Given the description of an element on the screen output the (x, y) to click on. 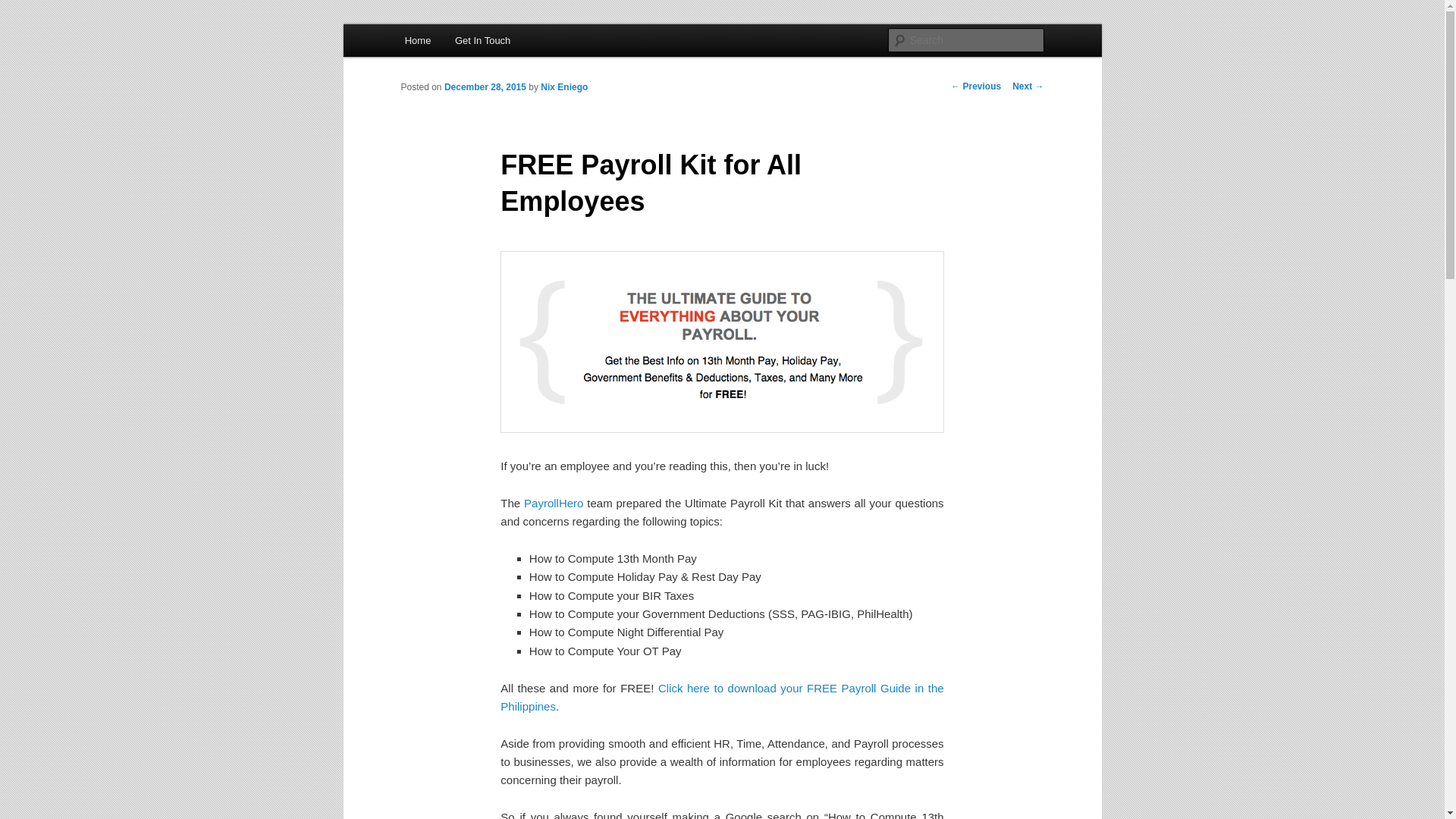
PayrollHero (553, 502)
Home (417, 40)
December 28, 2015 (484, 86)
Search (24, 8)
View all posts by Nix Eniego (564, 86)
3:44 pm (484, 86)
Get In Touch (482, 40)
Nix Eniego (564, 86)
